Given the description of an element on the screen output the (x, y) to click on. 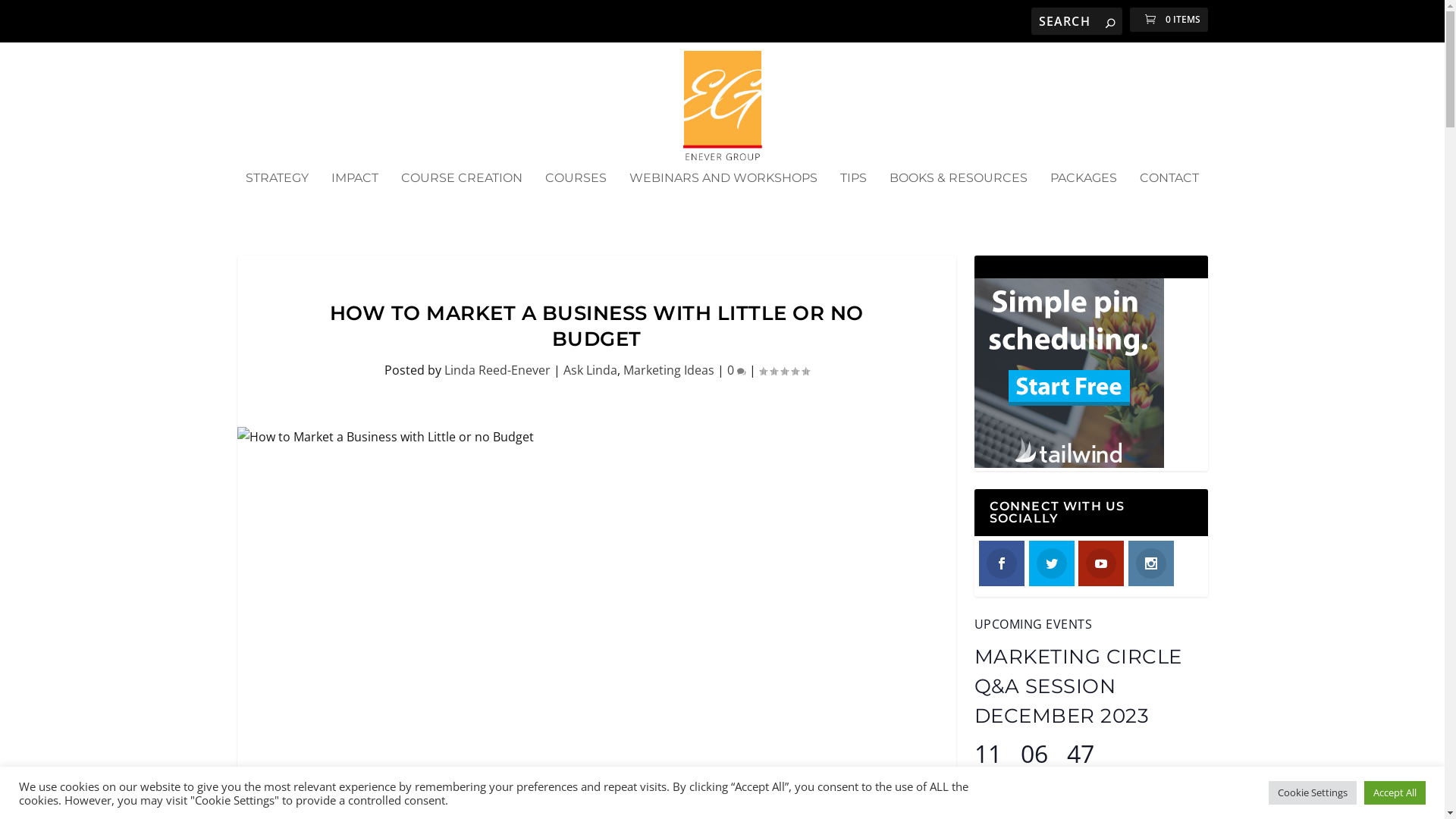
comment count Element type: hover (741, 371)
BOOKS & RESOURCES Element type: text (958, 198)
STRATEGY Element type: text (276, 198)
0 Element type: text (735, 369)
MARKETING CIRCLE Q&A SESSION DECEMBER 2023 Element type: text (1077, 686)
Search Element type: text (36, 19)
PACKAGES Element type: text (1083, 198)
Cookie Settings Element type: text (1312, 792)
COURSE CREATION Element type: text (461, 198)
Search for: Element type: hover (1076, 20)
Marketing Ideas Element type: text (668, 369)
TIPS Element type: text (853, 198)
Accept All Element type: text (1394, 792)
Linda Reed-Enever Element type: text (497, 369)
Rating: 0.00 Element type: hover (783, 370)
CONTACT Element type: text (1168, 198)
WEBINARS AND WORKSHOPS Element type: text (723, 198)
IMPACT Element type: text (354, 198)
0 ITEMS Element type: text (1168, 19)
COURSES Element type: text (575, 198)
Ask Linda Element type: text (589, 369)
